Given the description of an element on the screen output the (x, y) to click on. 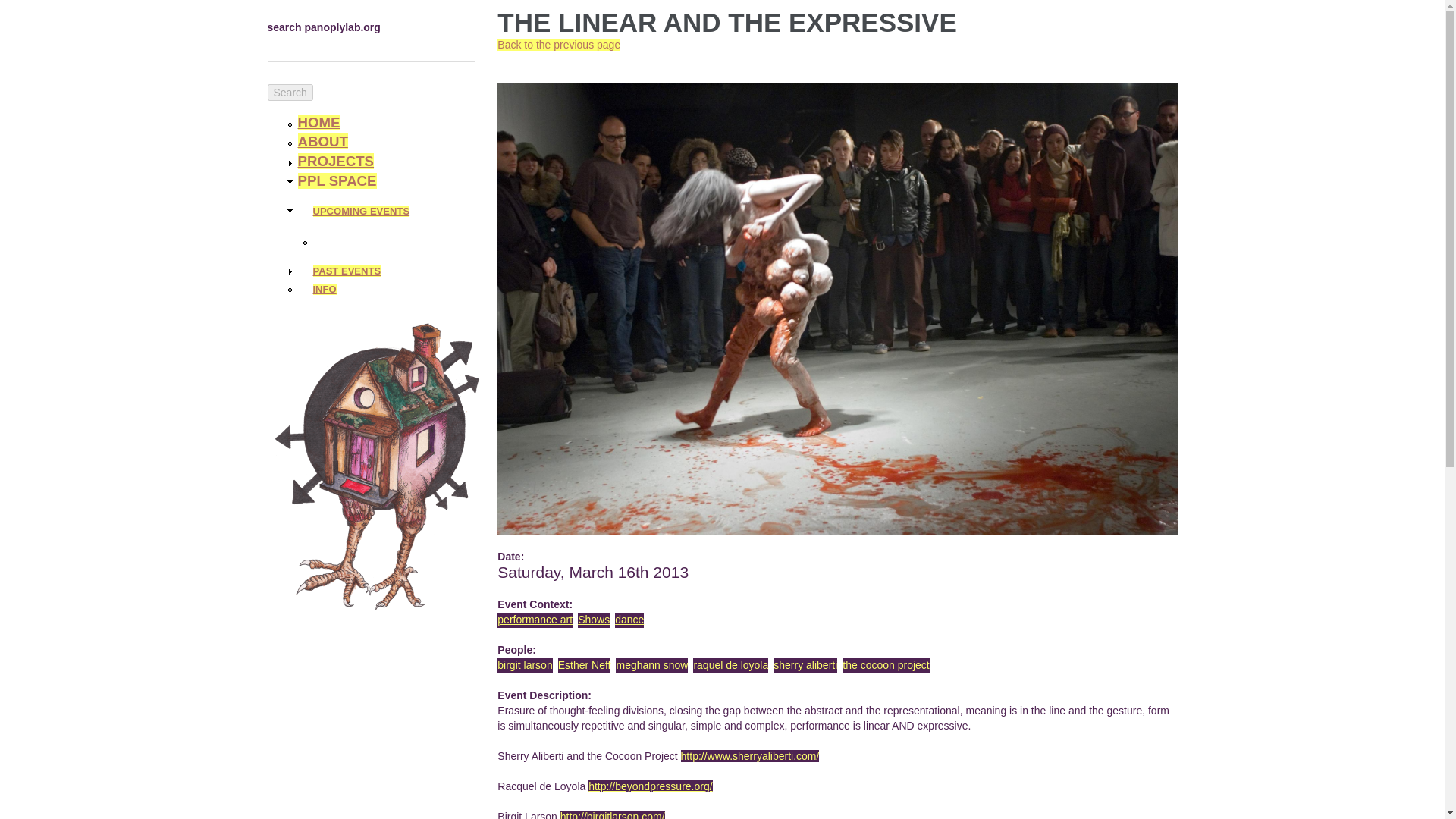
HOME (318, 122)
birgit larson (524, 664)
UPCOMING EVENTS (361, 211)
PAST EVENTS (346, 270)
INFO (324, 288)
Back to the previous page (558, 44)
the cocoon project (885, 664)
Search (289, 92)
sherry aliberti (805, 664)
